Given the description of an element on the screen output the (x, y) to click on. 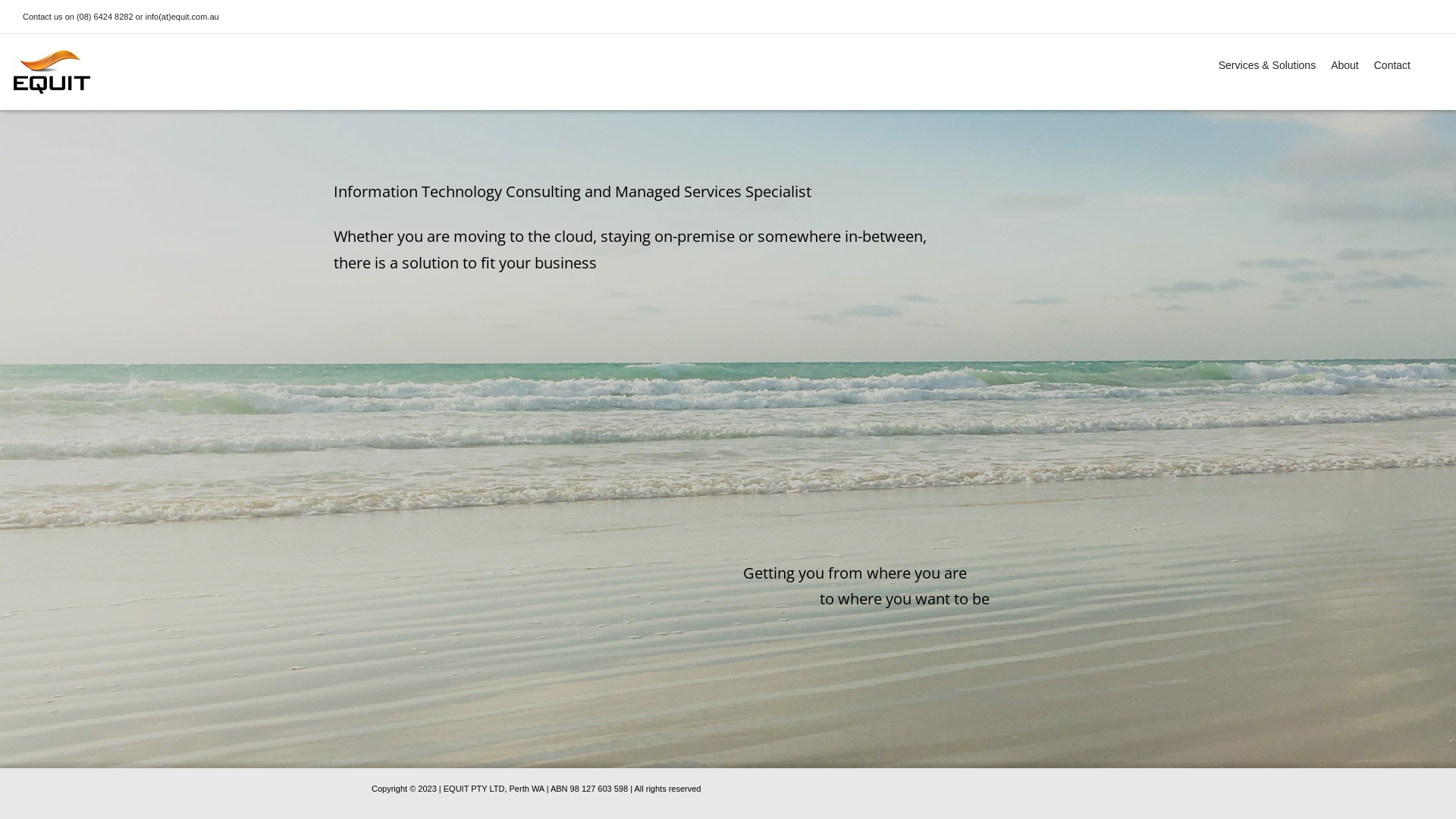
About Element type: text (1344, 65)
Contact Element type: text (1392, 65)
Services & Solutions Element type: text (1266, 65)
